Given the description of an element on the screen output the (x, y) to click on. 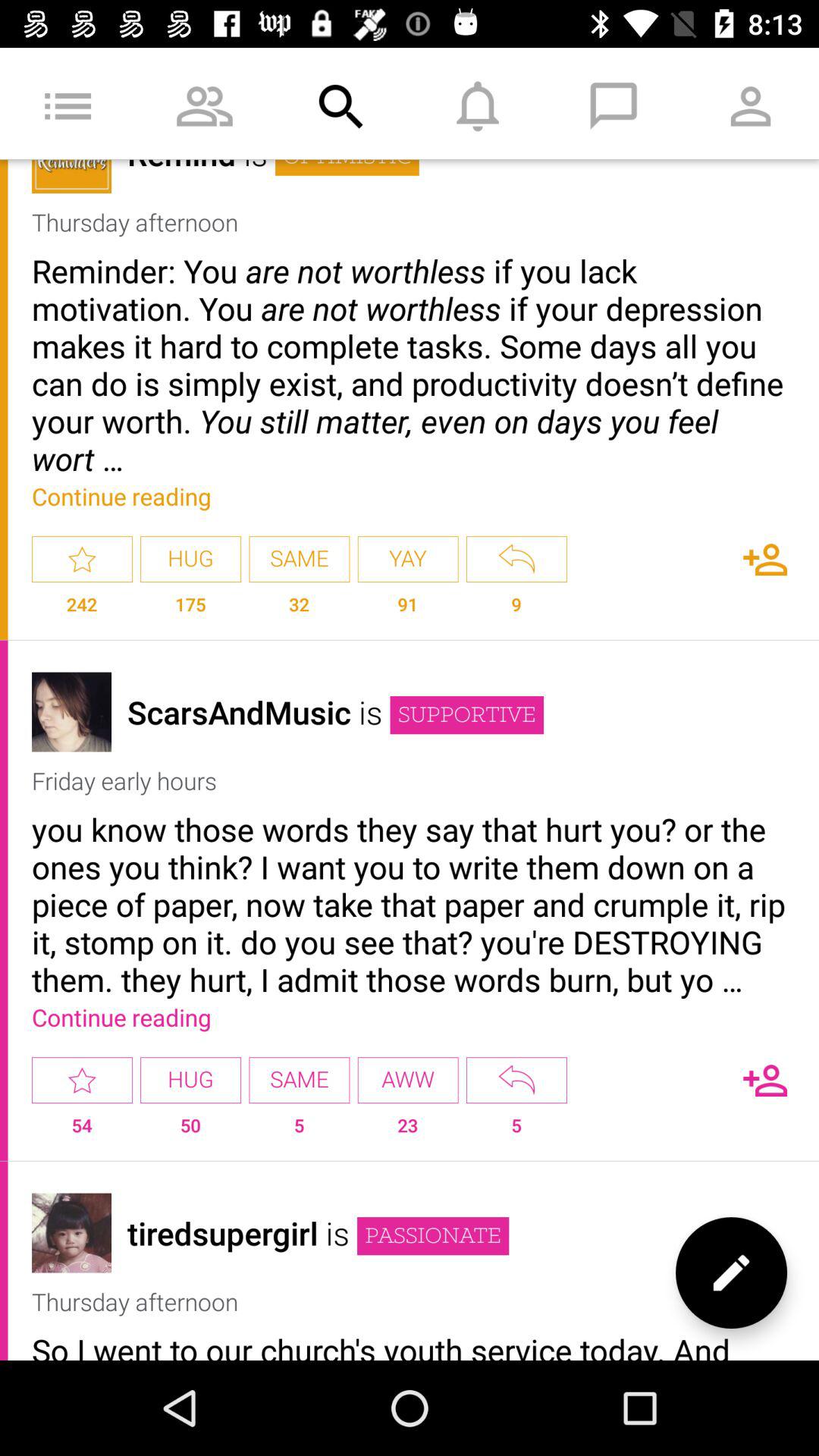
favorite (81, 1080)
